Given the description of an element on the screen output the (x, y) to click on. 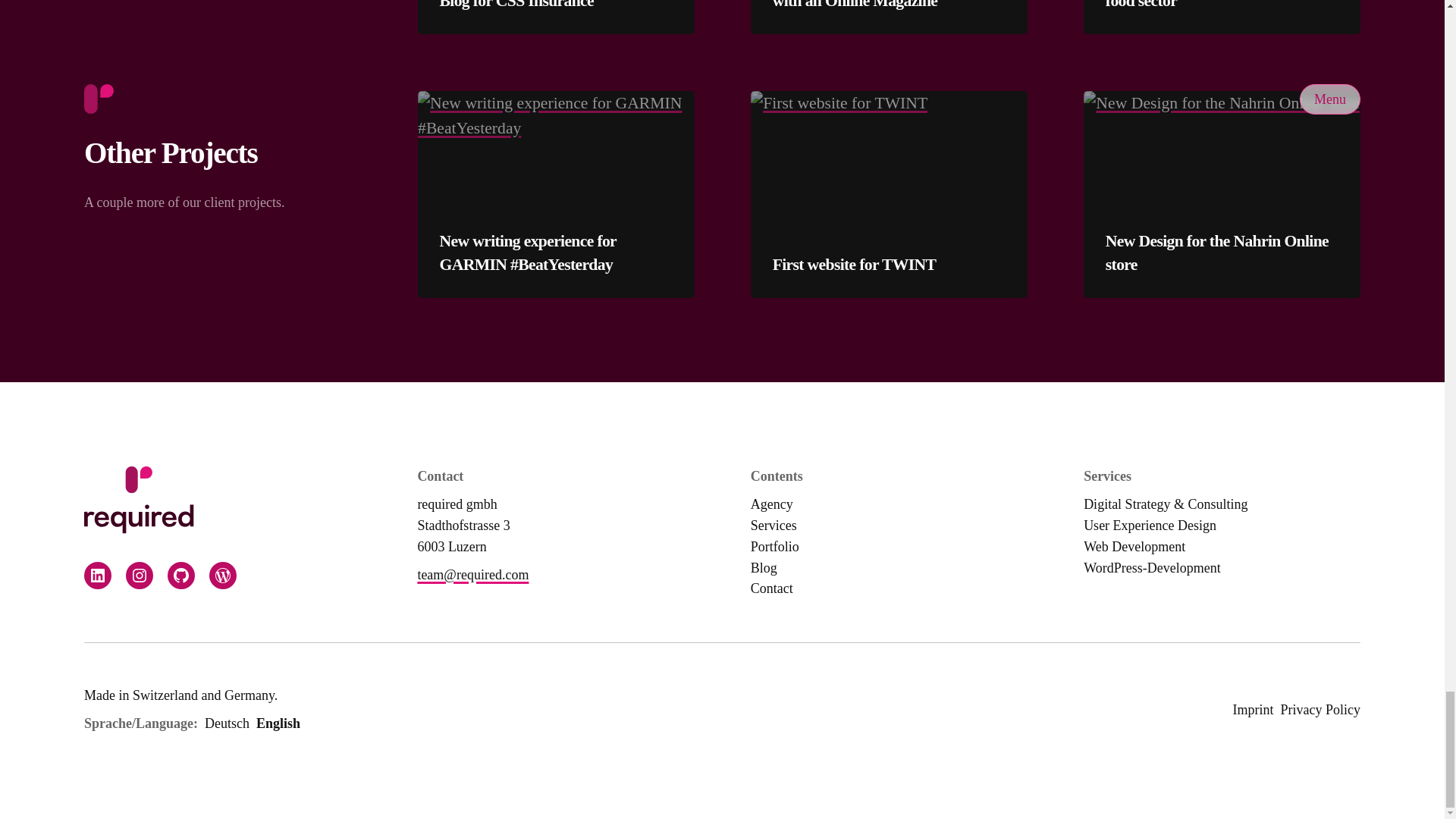
Website for further studies in the food sector (1222, 6)
New Design for the Nahrin Online store (1222, 253)
First website for TWINT (854, 264)
Blog for CSS Insurance (516, 6)
Promoting Customer Interactions with an Online Magazine (889, 6)
